Given the description of an element on the screen output the (x, y) to click on. 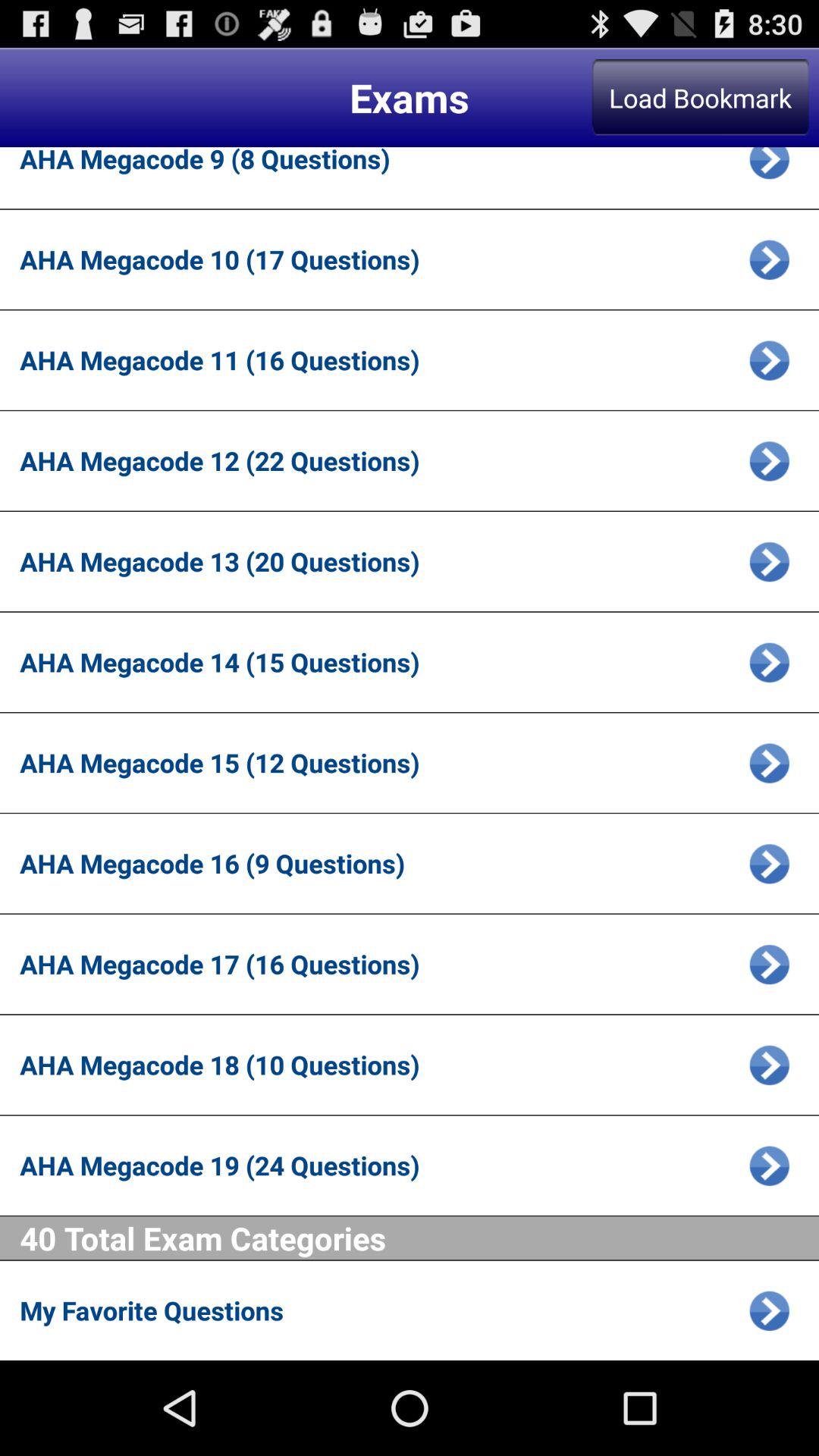
choose (769, 662)
